Given the description of an element on the screen output the (x, y) to click on. 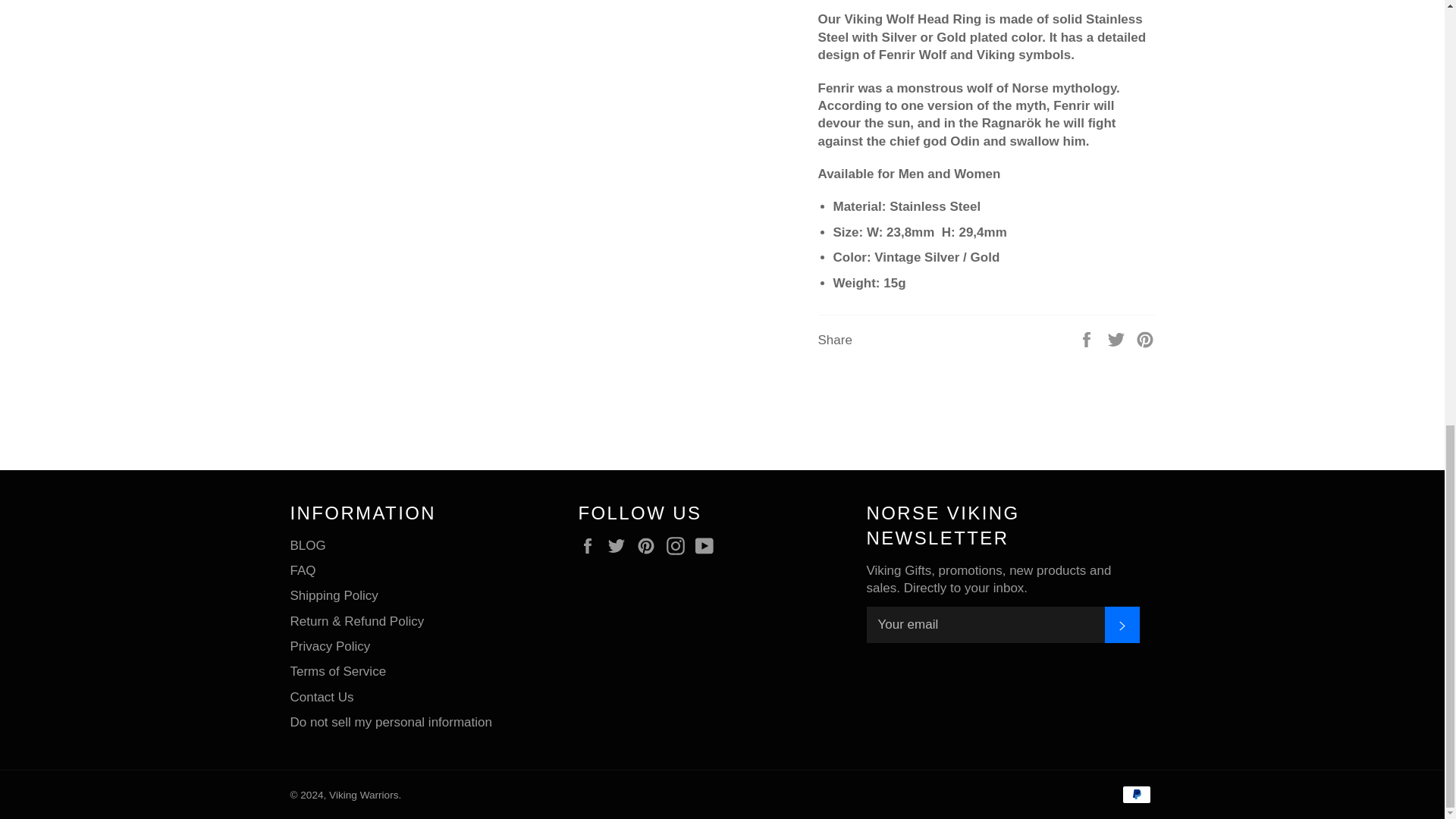
Viking Warriors on Instagram (679, 546)
Viking Warriors on Facebook (591, 546)
Tweet on Twitter (1117, 339)
Viking Warriors on YouTube (707, 546)
Viking Warriors on Pinterest (649, 546)
Pin on Pinterest (1144, 339)
Viking Warriors on Twitter (620, 546)
Share on Facebook (1088, 339)
